Given the description of an element on the screen output the (x, y) to click on. 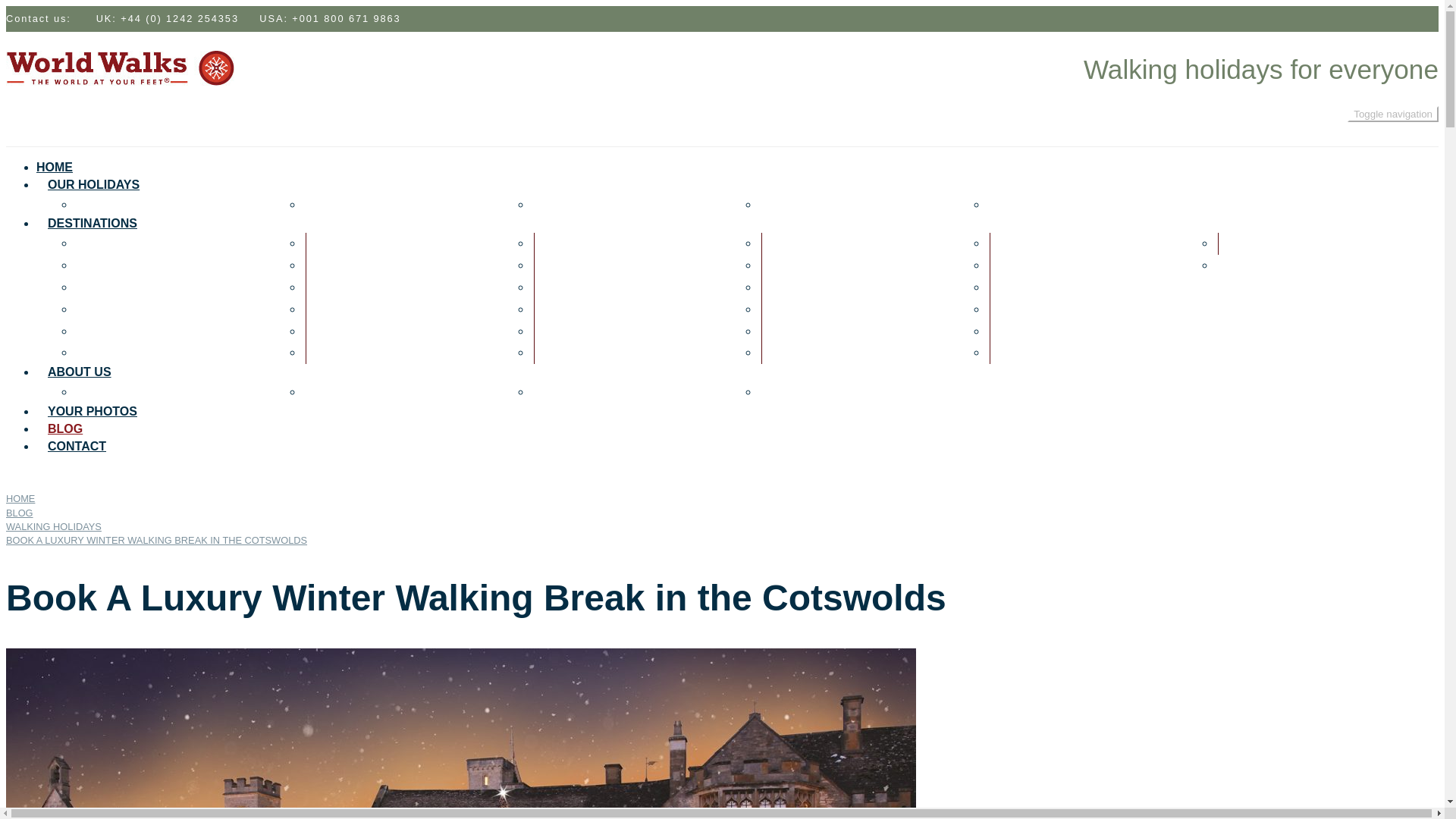
Self Guided (343, 204)
Ireland (329, 351)
Sweden (1016, 330)
Guided (102, 204)
Kenya (556, 264)
Bulgaria (106, 286)
Pilgrim Routes (581, 204)
Corsica (103, 308)
Malta (553, 308)
Slovakia (1018, 242)
Guided (102, 204)
England (334, 242)
New Zealand (802, 264)
Destinations (92, 223)
Belgium (105, 264)
